Given the description of an element on the screen output the (x, y) to click on. 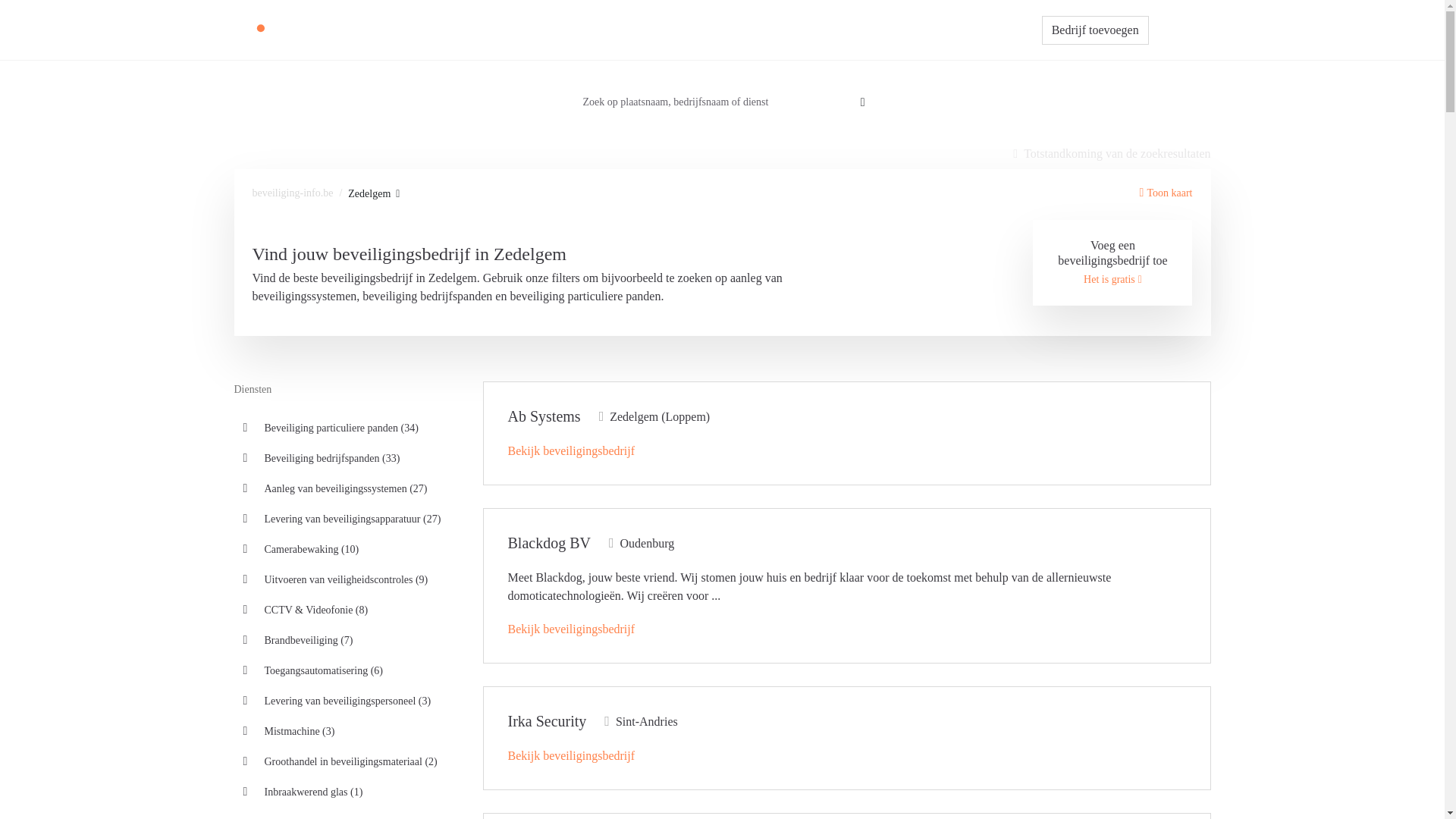
Camerabewaking (10) Element type: text (348, 548)
Brandbeveiliging (7) Element type: text (348, 639)
CCTV & Videofonie (8) Element type: text (348, 609)
Levering van beveiligingsapparatuur (27) Element type: text (348, 518)
Zedelgem Element type: text (373, 193)
Toegangsautomatisering (6) Element type: text (348, 670)
Levering van beveiligingspersoneel (3) Element type: text (348, 700)
Bekijk beveiligingsbedrijf Element type: text (571, 628)
Blackdog BV Element type: text (549, 542)
Bedrijf toevoegen Element type: text (1094, 29)
Ab Systems Element type: text (544, 415)
Vraagbaak Element type: text (797, 29)
Irka Security Element type: text (547, 720)
Toon kaart Element type: text (1165, 192)
Bekijk beveiligingsbedrijf Element type: text (571, 450)
Beveiliging particuliere panden (34) Element type: text (348, 427)
Aanleg van beveiligingssystemen (27) Element type: text (348, 488)
Beveiligingsbedrijf zoeken Element type: text (692, 29)
Beveiliging bedrijfspanden (33) Element type: text (348, 457)
Groothandel in beveiligingsmateriaal (2) Element type: text (348, 761)
Totstandkoming van de zoekresultaten Element type: text (1111, 153)
Mistmachine (3) Element type: text (348, 730)
Inloggen Element type: text (1179, 29)
Inbraakwerend glas (1) Element type: text (348, 791)
Bekijk beveiligingsbedrijf Element type: text (571, 755)
beveiliging-info.be Element type: text (291, 192)
Het is gratis Element type: text (1112, 279)
Uitvoeren van veiligheidscontroles (9) Element type: text (348, 579)
